Given the description of an element on the screen output the (x, y) to click on. 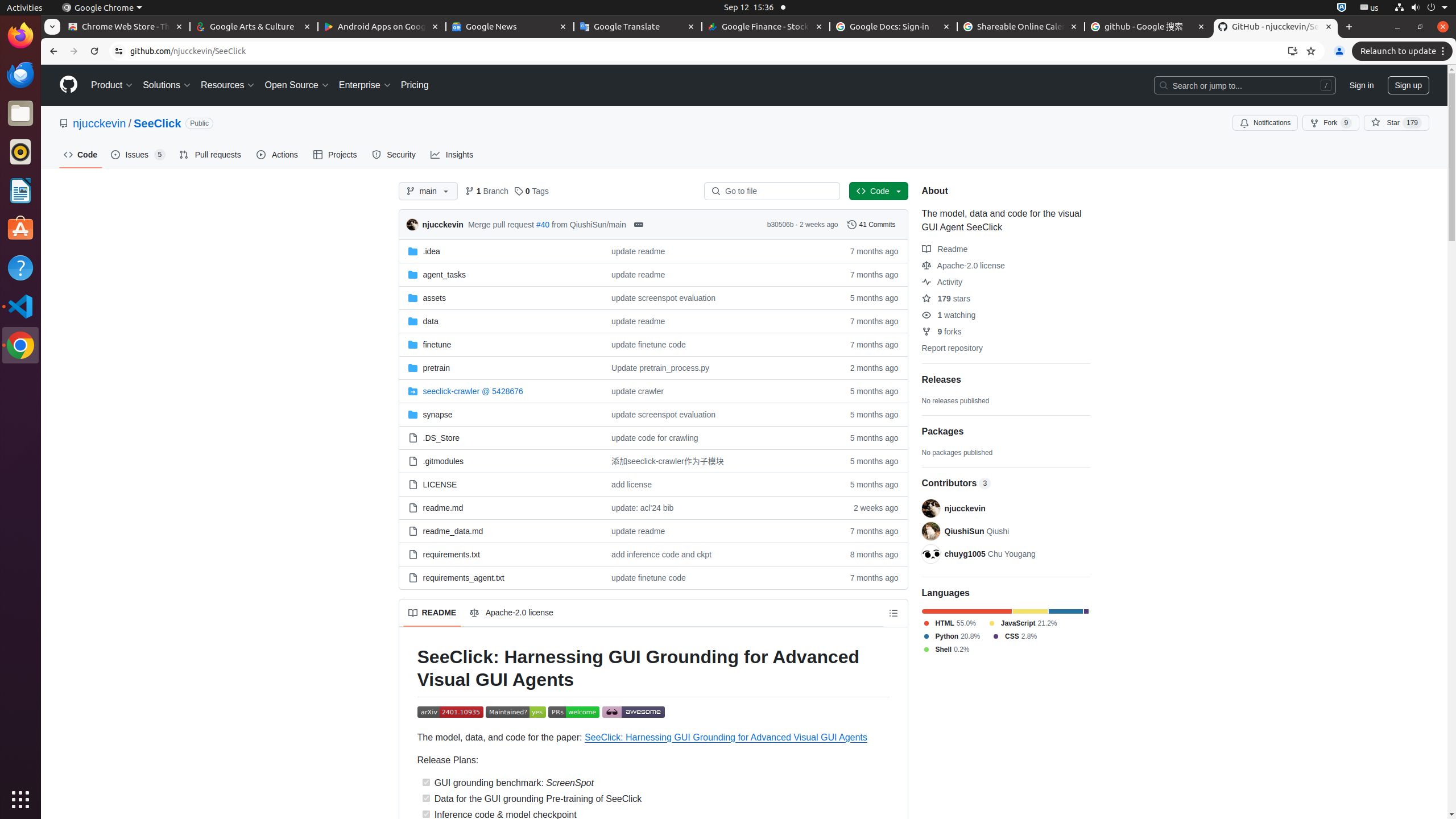
添加seeclick-crawler作为子模块 Element type: link (667, 460)
Contributors 3 Element type: link (1005, 483)
seeclick-crawler, (Submodule) Element type: link (472, 390)
arXiv Element type: link (449, 712)
update code for crawling Element type: link (654, 437)
